Given the description of an element on the screen output the (x, y) to click on. 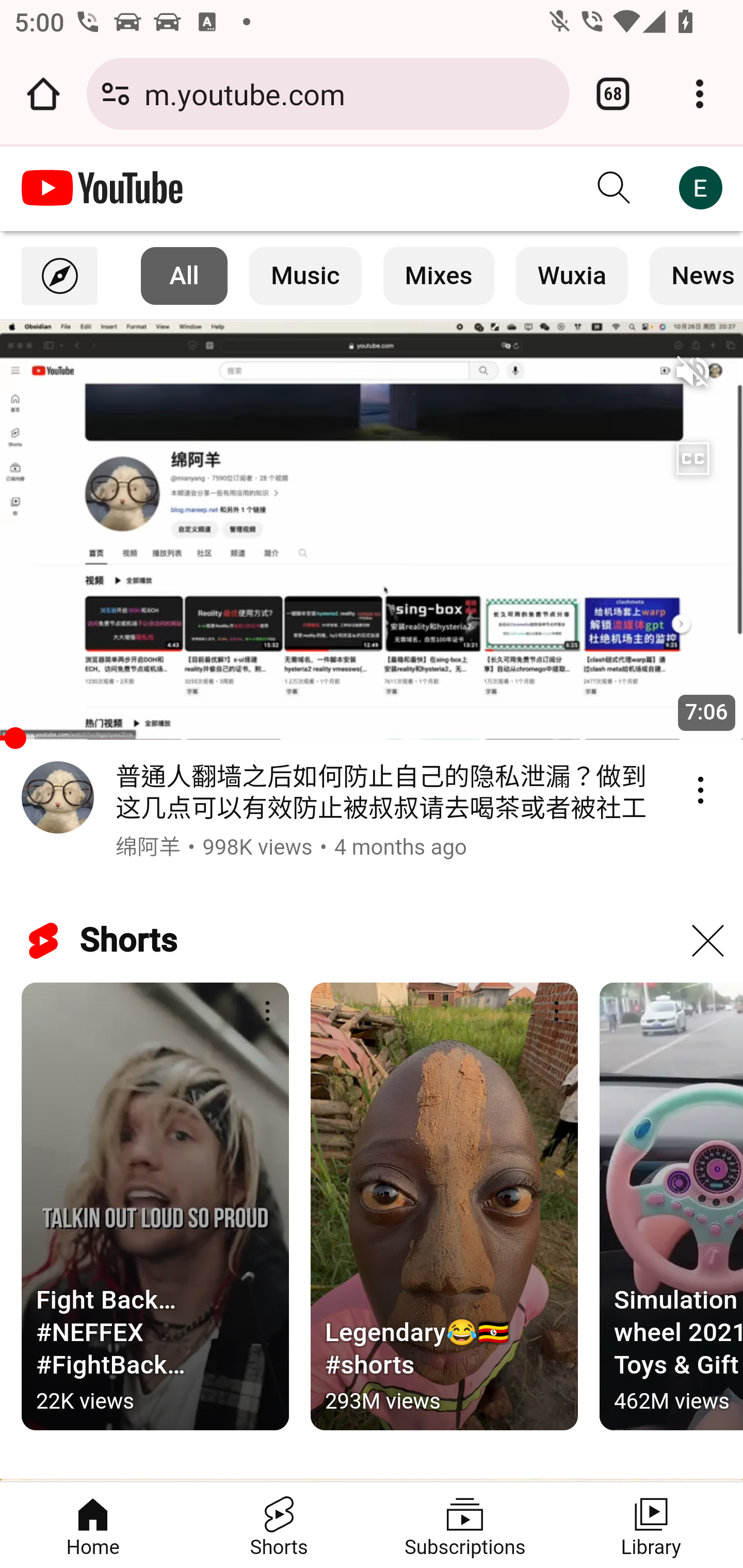
Open the home page (43, 93)
Connection is secure (115, 93)
Switch or close tabs (612, 93)
Customize and control Google Chrome (699, 93)
m.youtube.com (349, 92)
YouTube (102, 188)
Search YouTube (614, 188)
Account (700, 188)
Explore (59, 274)
All (184, 274)
Music (305, 274)
Mixes (438, 274)
Wuxia (572, 274)
News (695, 274)
watch?v=jBkcNeUxwAk (371, 530)
Unmute (692, 372)
Subtitles/CC turned off (692, 459)
Action menu (700, 789)
Go to channel (58, 801)
Not interested (707, 941)
More actions (267, 1012)
More actions (556, 1012)
Home (93, 1524)
Shorts (278, 1524)
Subscriptions (465, 1524)
Library (649, 1524)
